Given the description of an element on the screen output the (x, y) to click on. 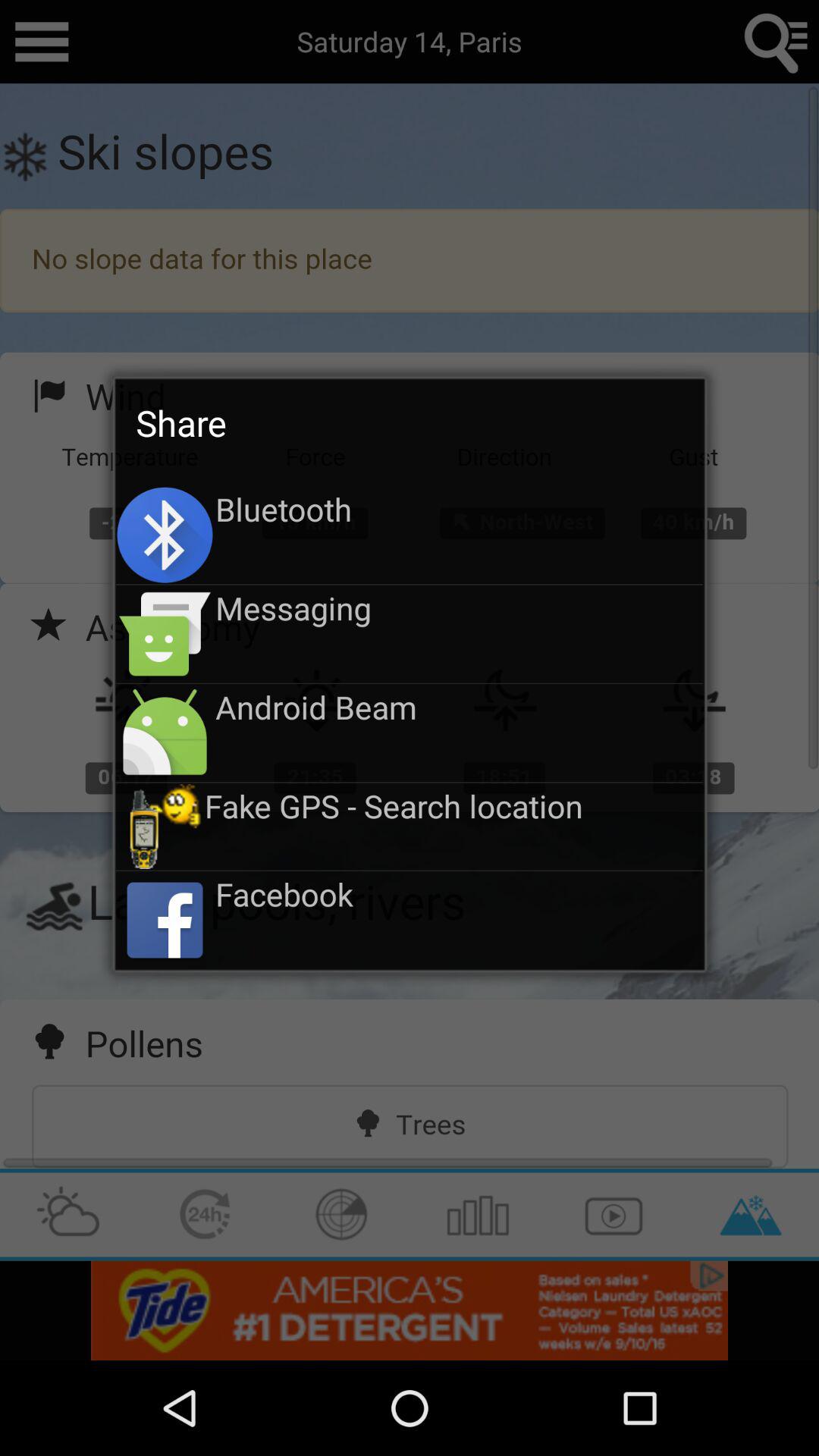
click the android beam icon (458, 706)
